Given the description of an element on the screen output the (x, y) to click on. 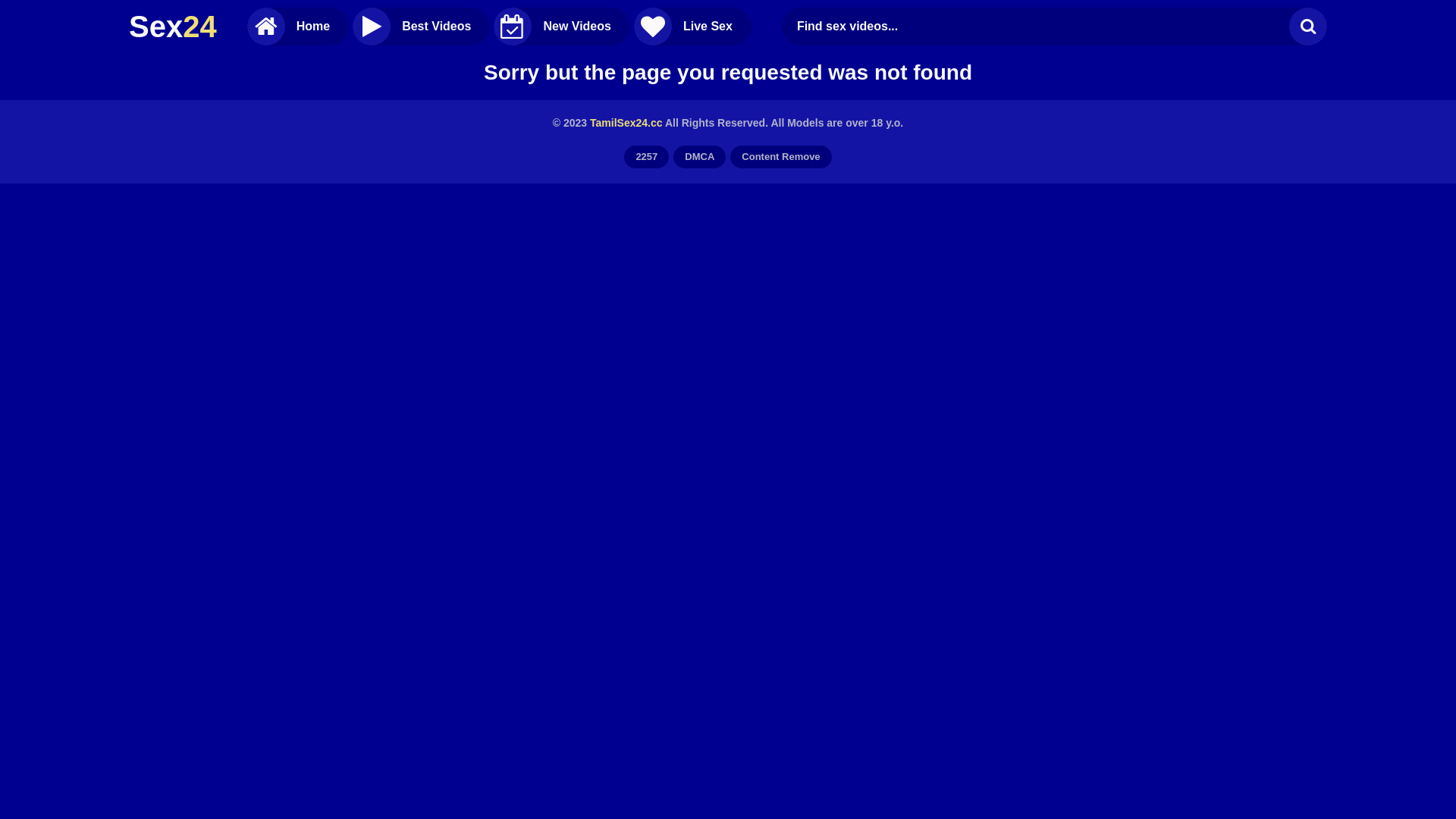
Sex24 Element type: text (172, 26)
Content Remove Element type: text (780, 156)
Home Element type: text (297, 26)
2257 Element type: text (646, 156)
Best Videos Element type: text (420, 26)
Search Element type: hover (1308, 26)
DMCA Element type: text (699, 156)
Live Sex Element type: text (692, 26)
New Videos Element type: text (561, 26)
